Given the description of an element on the screen output the (x, y) to click on. 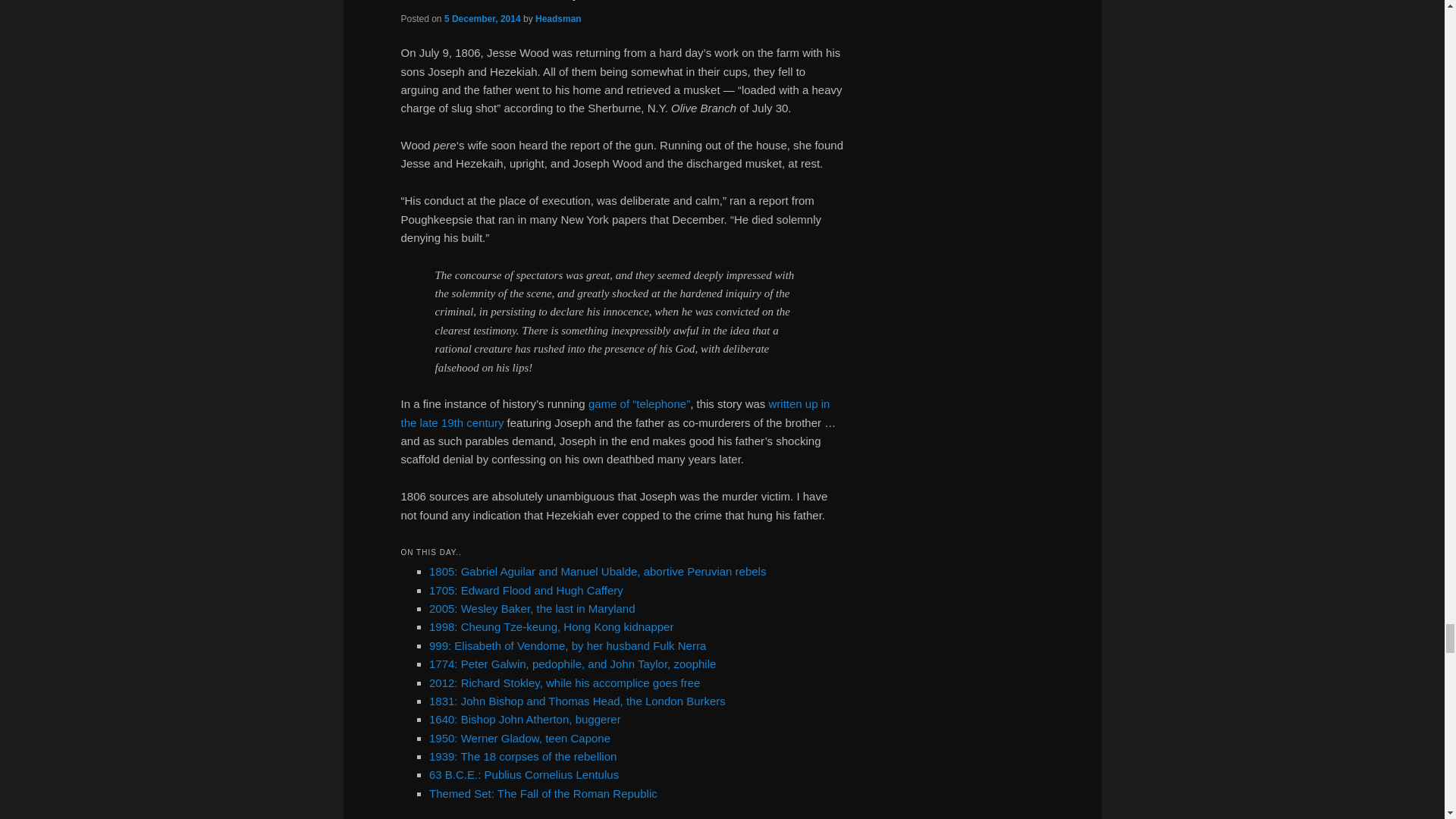
4:39 am (482, 18)
View all posts by Headsman (557, 18)
